Given the description of an element on the screen output the (x, y) to click on. 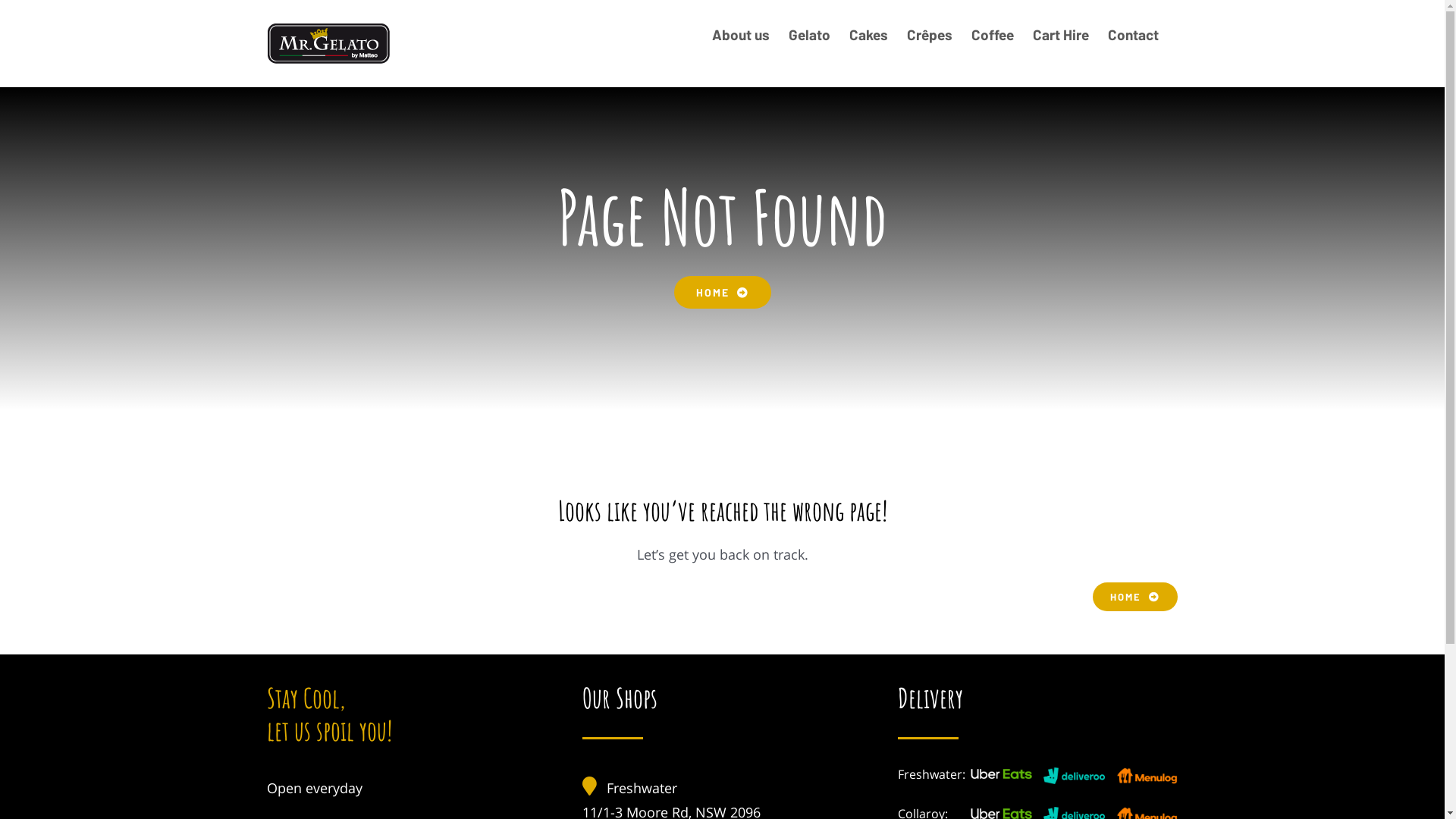
Gelato Element type: text (809, 34)
About us Element type: text (739, 34)
Cakes Element type: text (868, 34)
HOME Element type: text (721, 292)
Contact Element type: text (1132, 34)
HOME Element type: text (1134, 596)
Cart Hire Element type: text (1060, 34)
Coffee Element type: text (991, 34)
Freshwater Element type: text (641, 787)
